Given the description of an element on the screen output the (x, y) to click on. 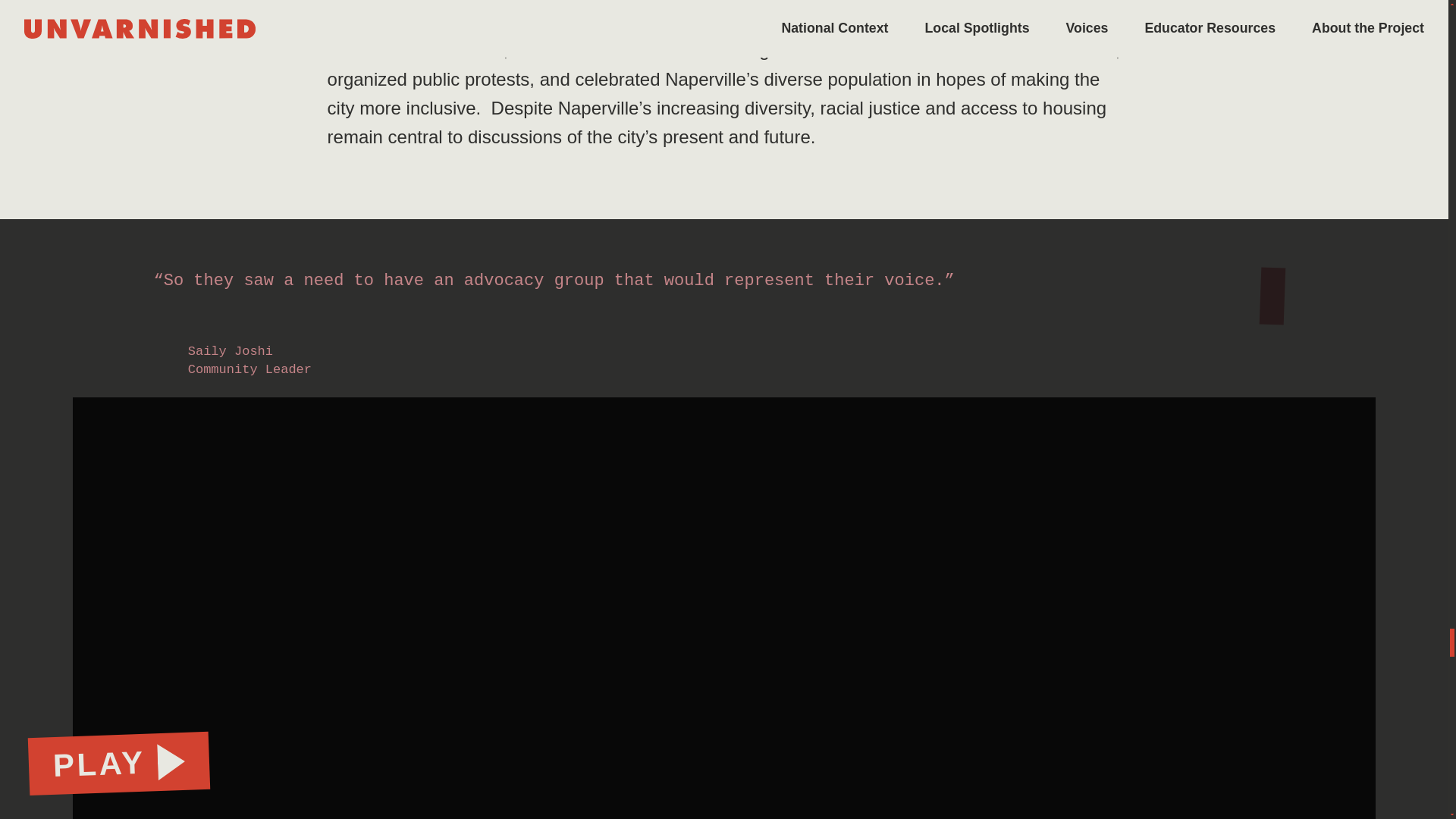
PLAY (117, 760)
